Given the description of an element on the screen output the (x, y) to click on. 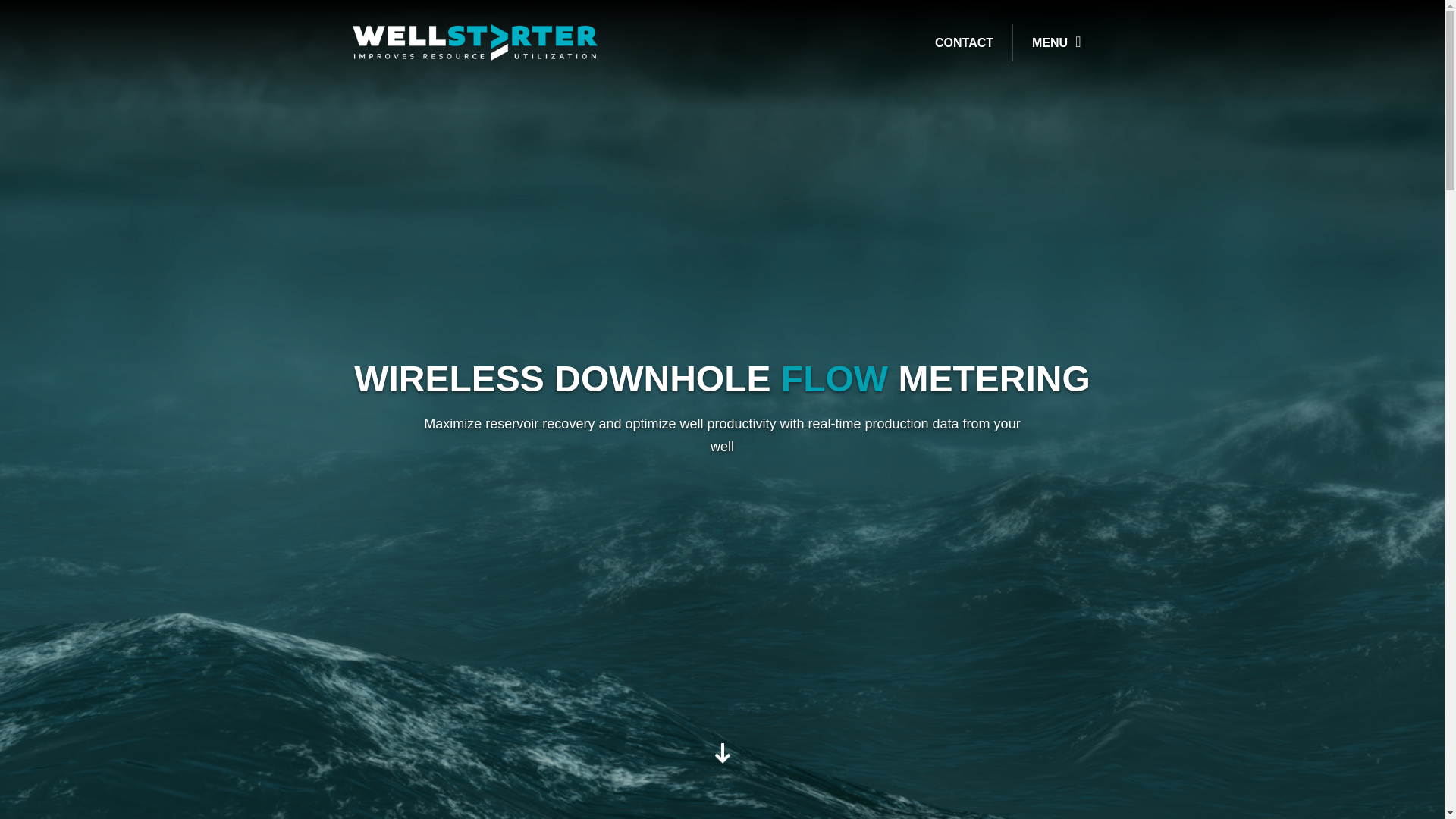
Welcome (721, 758)
CONTACT (967, 42)
Wellstarter (474, 41)
View contact information (967, 42)
MENU (1056, 42)
